Given the description of an element on the screen output the (x, y) to click on. 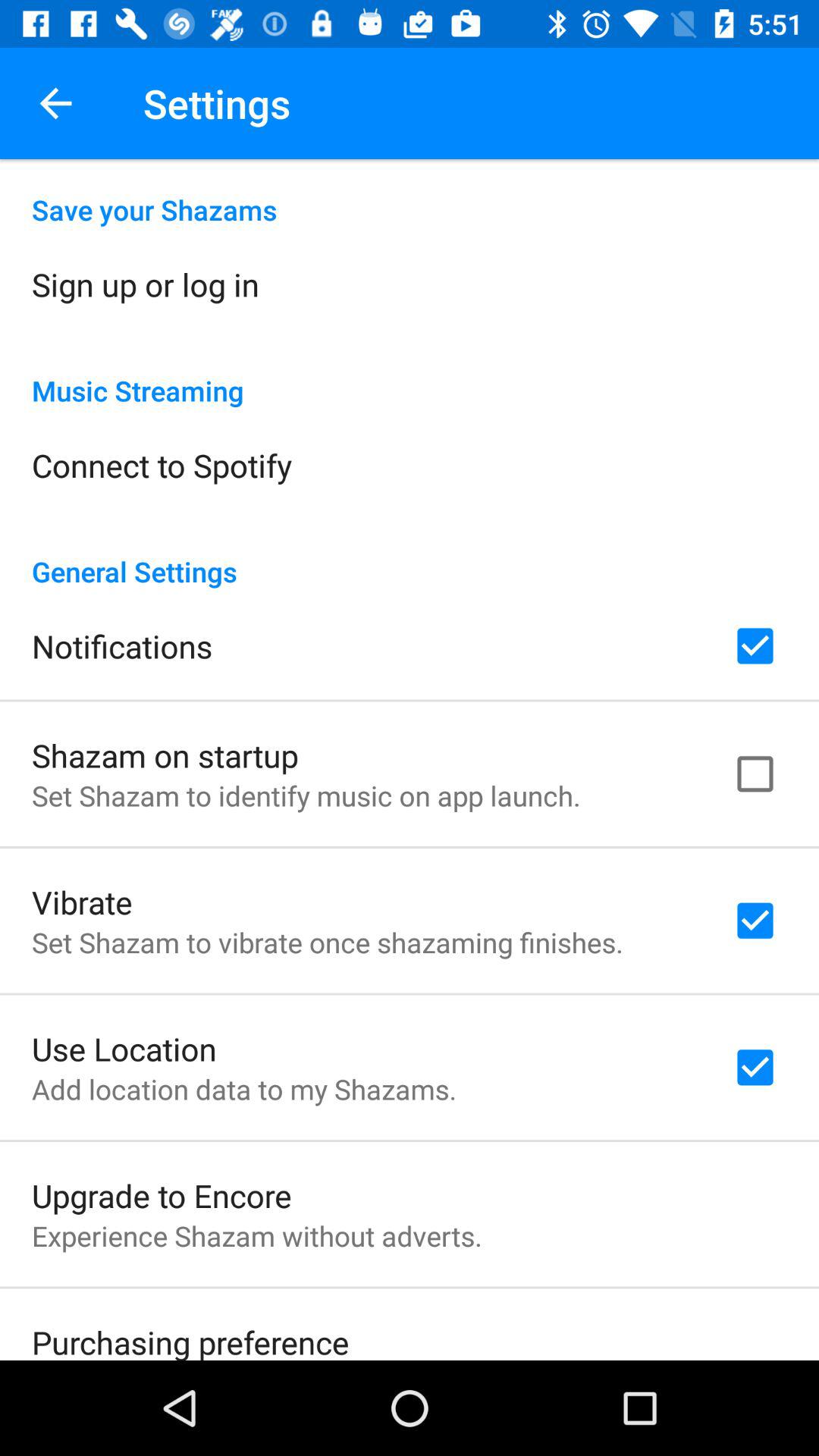
choose experience shazam without (256, 1235)
